Given the description of an element on the screen output the (x, y) to click on. 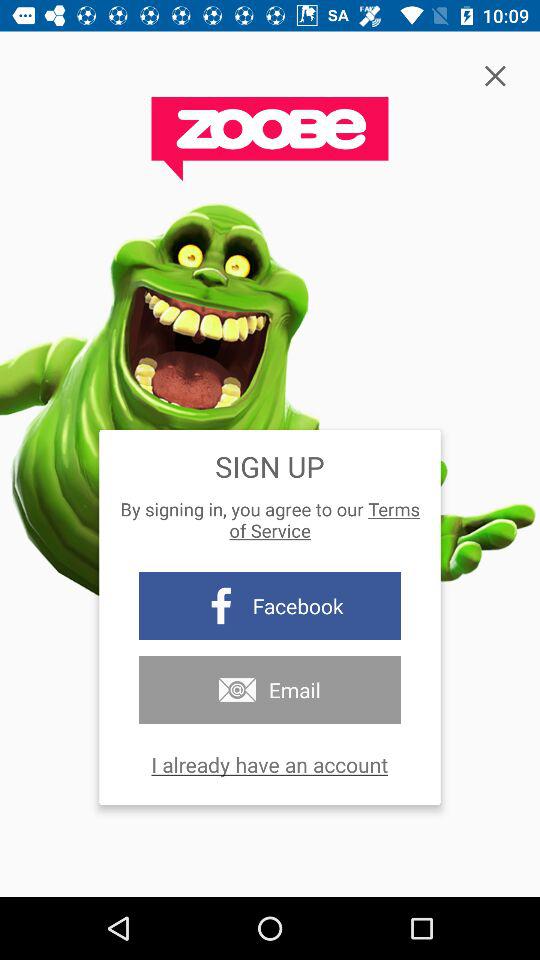
turn off the item at the top right corner (494, 75)
